Given the description of an element on the screen output the (x, y) to click on. 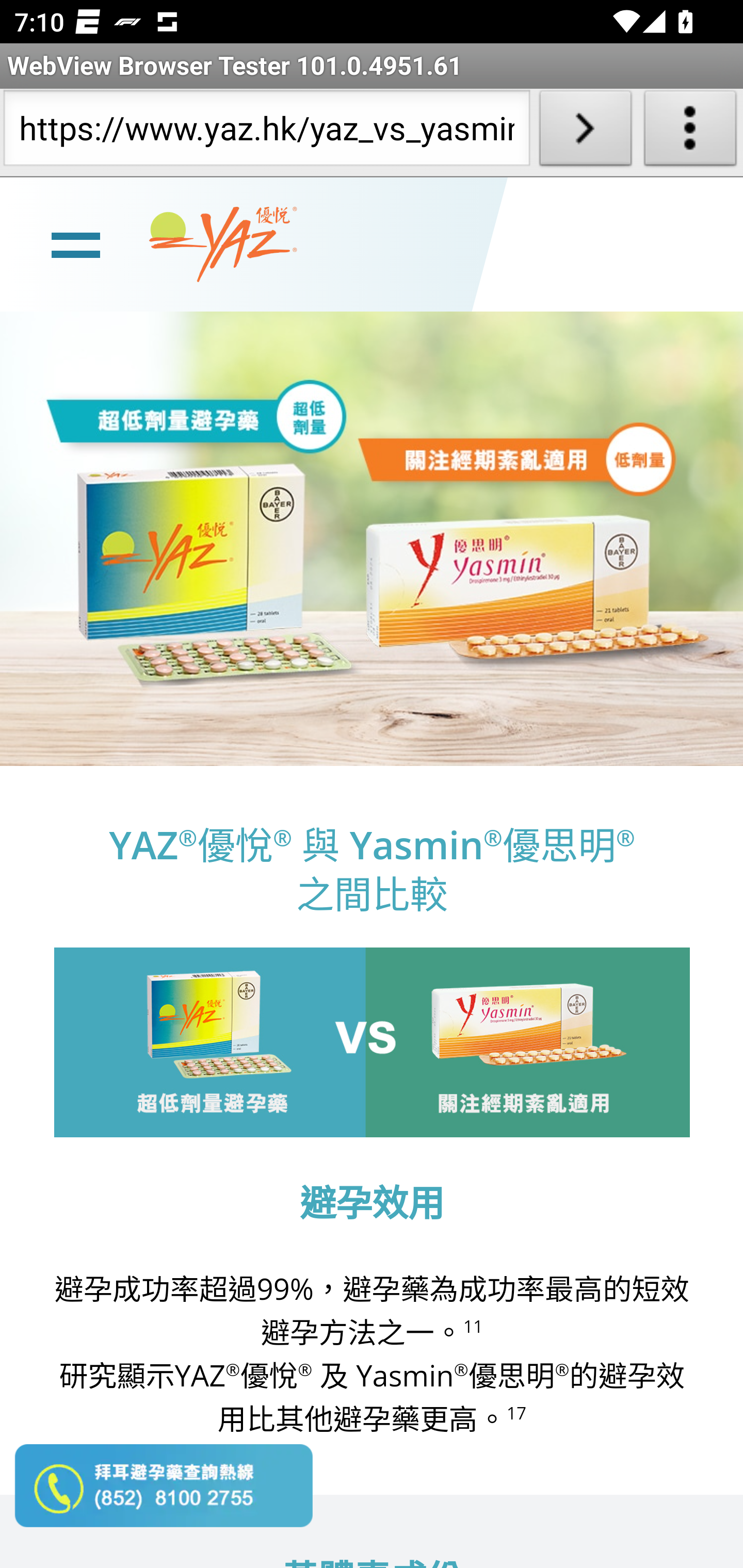
Load URL (585, 132)
About WebView (690, 132)
www.yaz (222, 244)
line Toggle burger menu (75, 242)
